Given the description of an element on the screen output the (x, y) to click on. 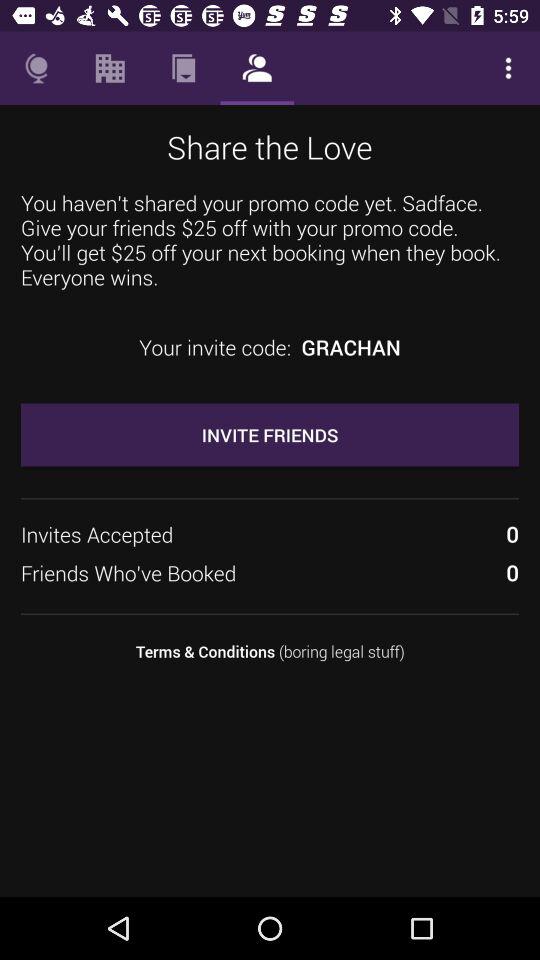
jump to grachan item (350, 347)
